Given the description of an element on the screen output the (x, y) to click on. 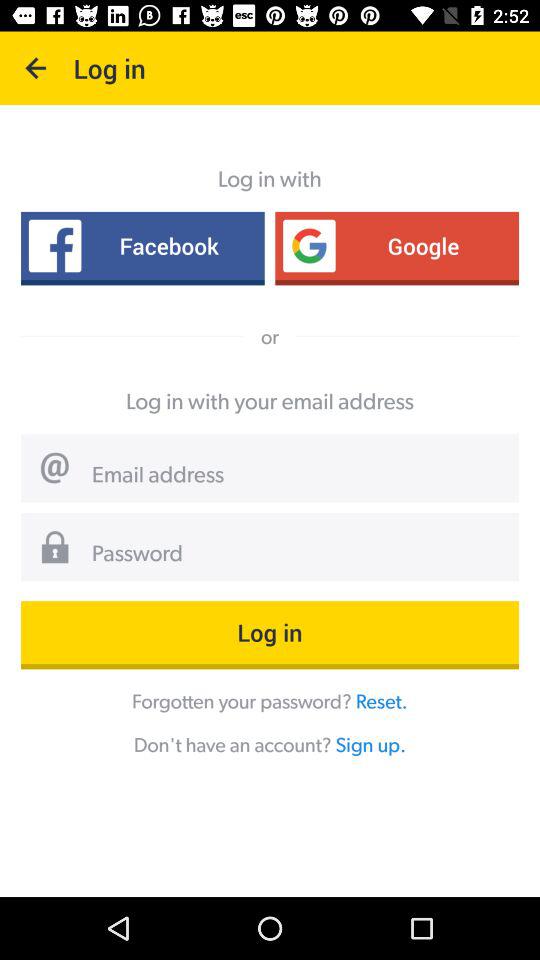
enter e-mail (298, 475)
